Given the description of an element on the screen output the (x, y) to click on. 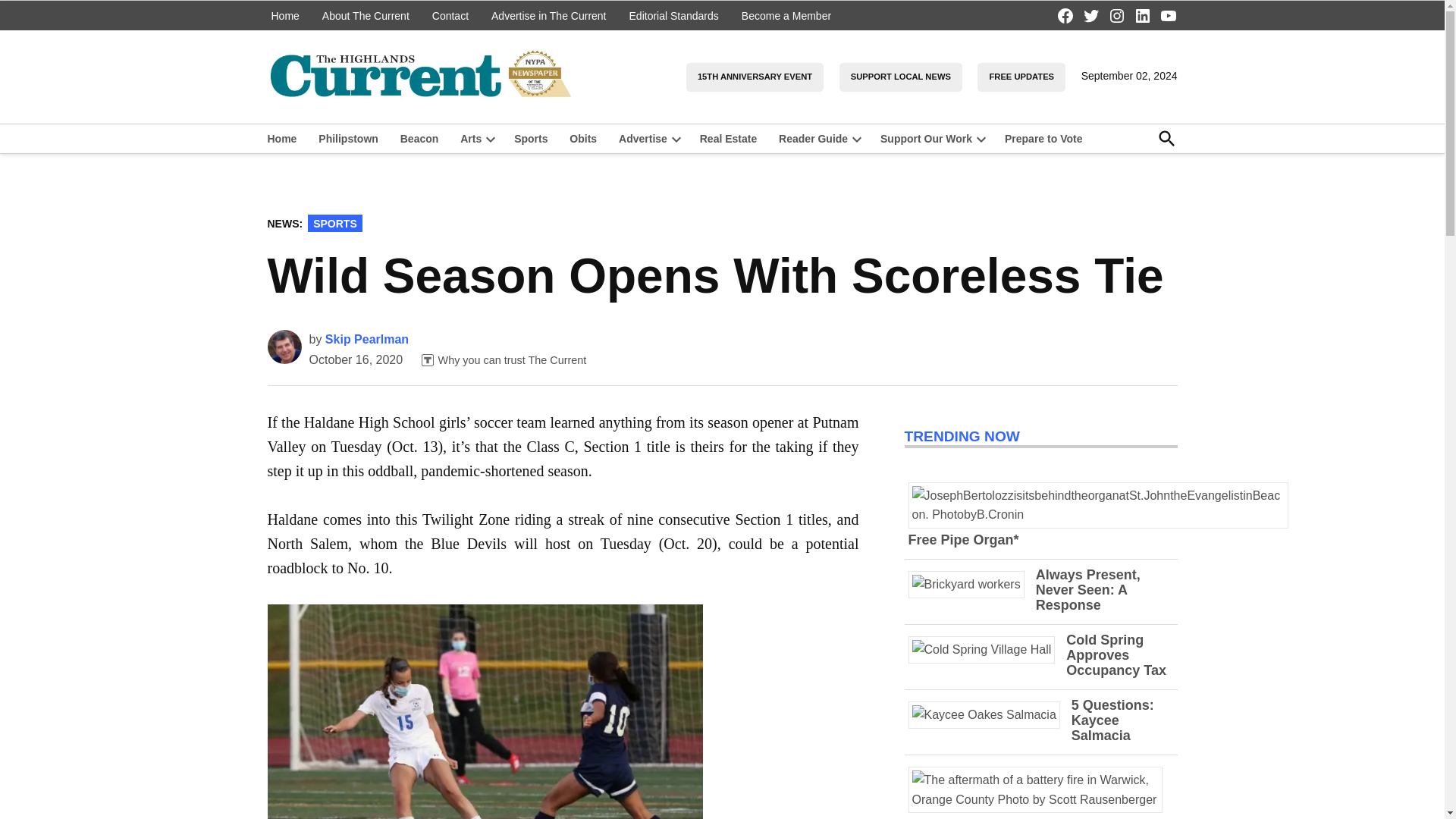
5 Questions: Kaycee Salmacia (1112, 719)
Always Present, Never Seen: A Response (1087, 589)
Battery Storage Faces Backlash (1012, 817)
Battery Storage Faces Backlash (1040, 799)
Cold Spring Approves Occupancy Tax (987, 649)
5 Questions: Kaycee Salmacia (989, 714)
Cold Spring Approves Occupancy Tax (1115, 655)
Always Present, Never Seen: A Response (971, 584)
